Given the description of an element on the screen output the (x, y) to click on. 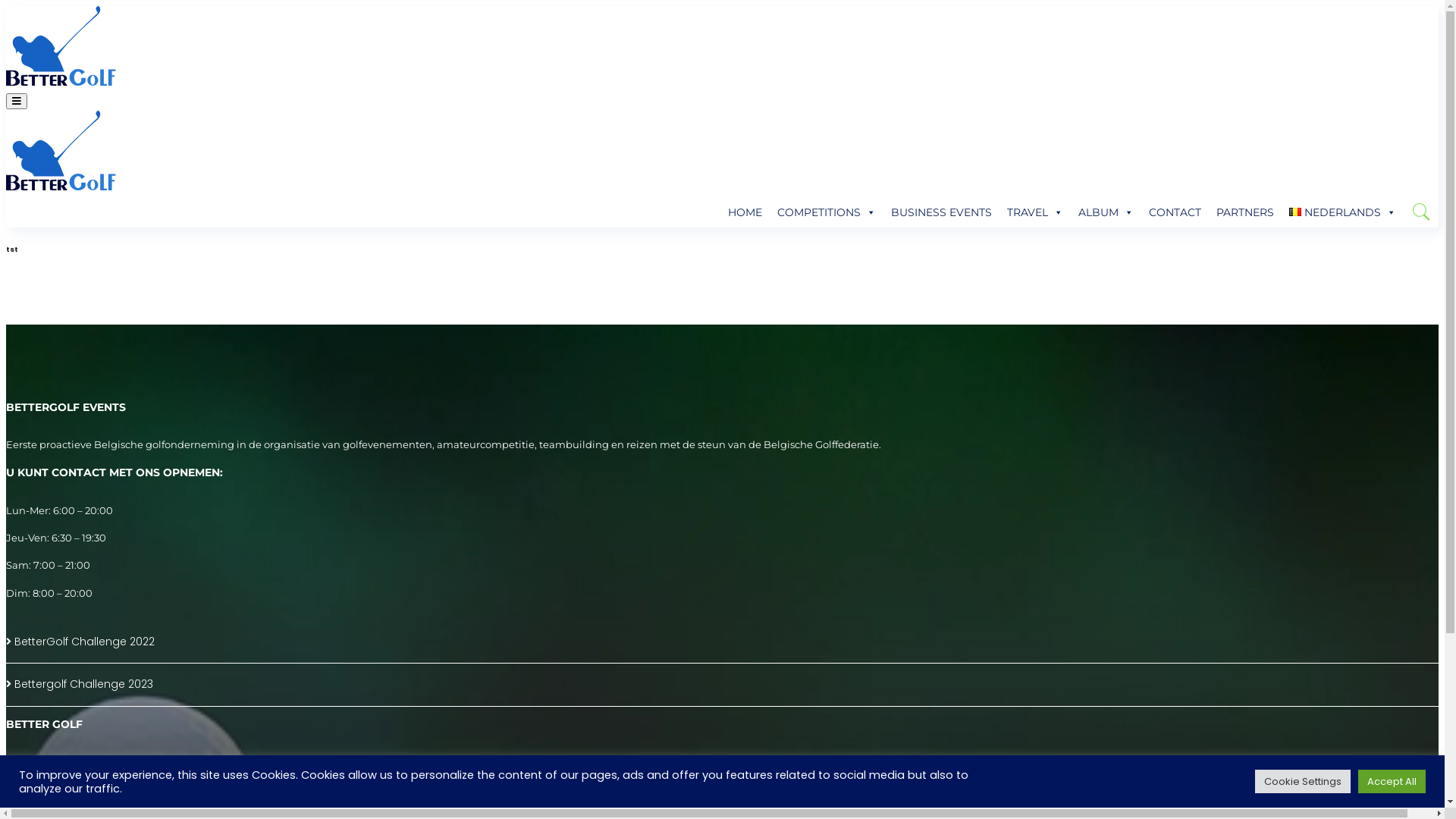
PARTNERS Element type: text (1244, 212)
COMPETITIONS Element type: text (826, 212)
Cookie Settings Element type: text (1302, 781)
CONTACT Element type: text (1174, 212)
TRAVEL Element type: text (1034, 212)
BetterGolf Challenge 2022 Element type: text (80, 641)
NEDERLANDS Element type: text (1342, 212)
Accept All Element type: text (1391, 781)
BUSINESS EVENTS Element type: text (941, 212)
ALBUM Element type: text (1105, 212)
Bettergolf Challenge 2023 Element type: text (79, 683)
HOME Element type: text (744, 212)
